Given the description of an element on the screen output the (x, y) to click on. 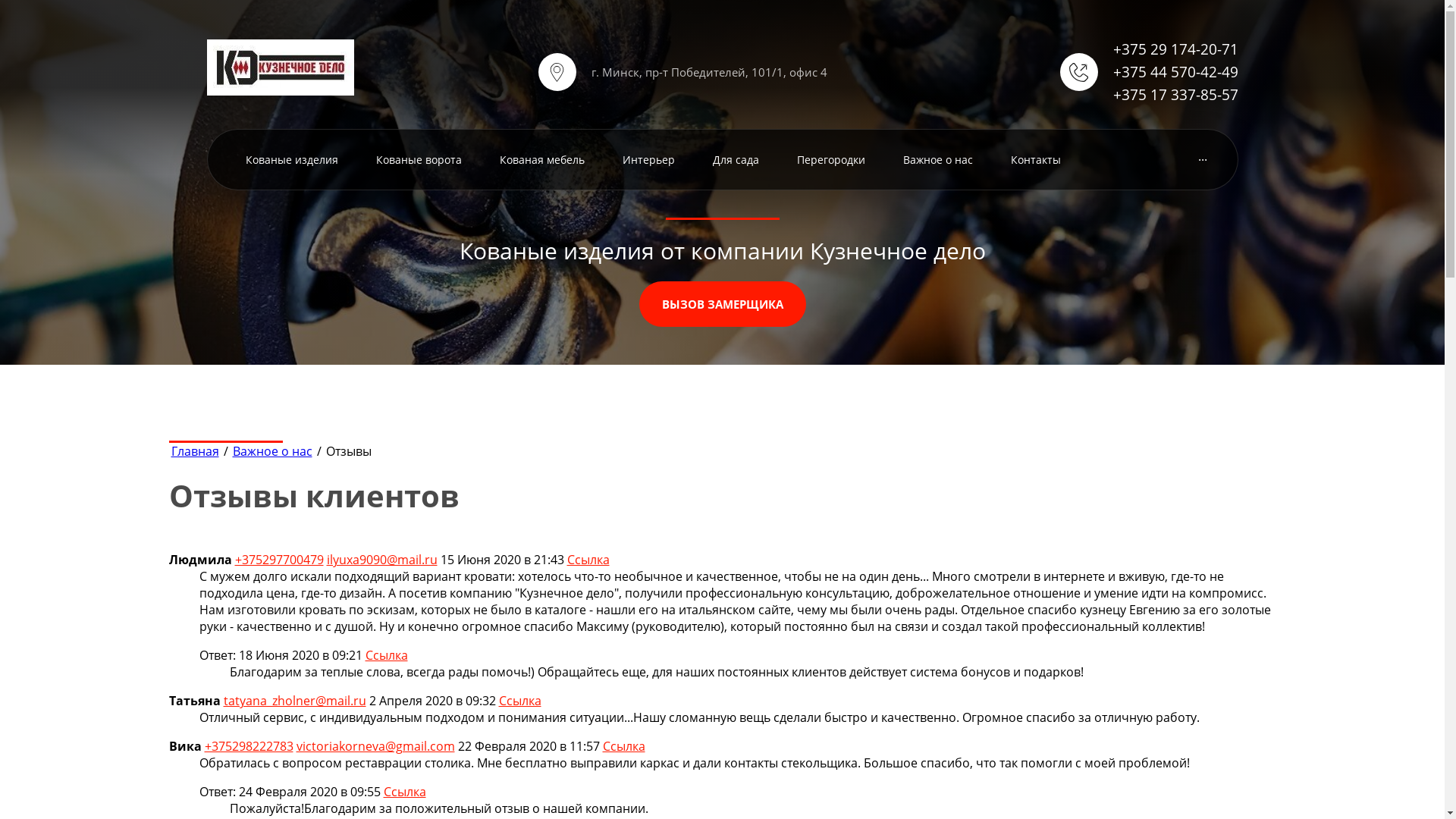
+375297700479 Element type: text (279, 559)
+375 29 174-20-71 Element type: text (1175, 49)
tatyana_zholner@mail.ru Element type: text (293, 700)
... Element type: text (1202, 155)
+375298222783 Element type: text (248, 745)
ilyuxa9090@mail.ru Element type: text (381, 559)
+375 17 337-85-57 Element type: text (1175, 94)
victoriakorneva@gmail.com Element type: text (374, 745)
+375 44 570-42-49 Element type: text (1175, 71)
